Given the description of an element on the screen output the (x, y) to click on. 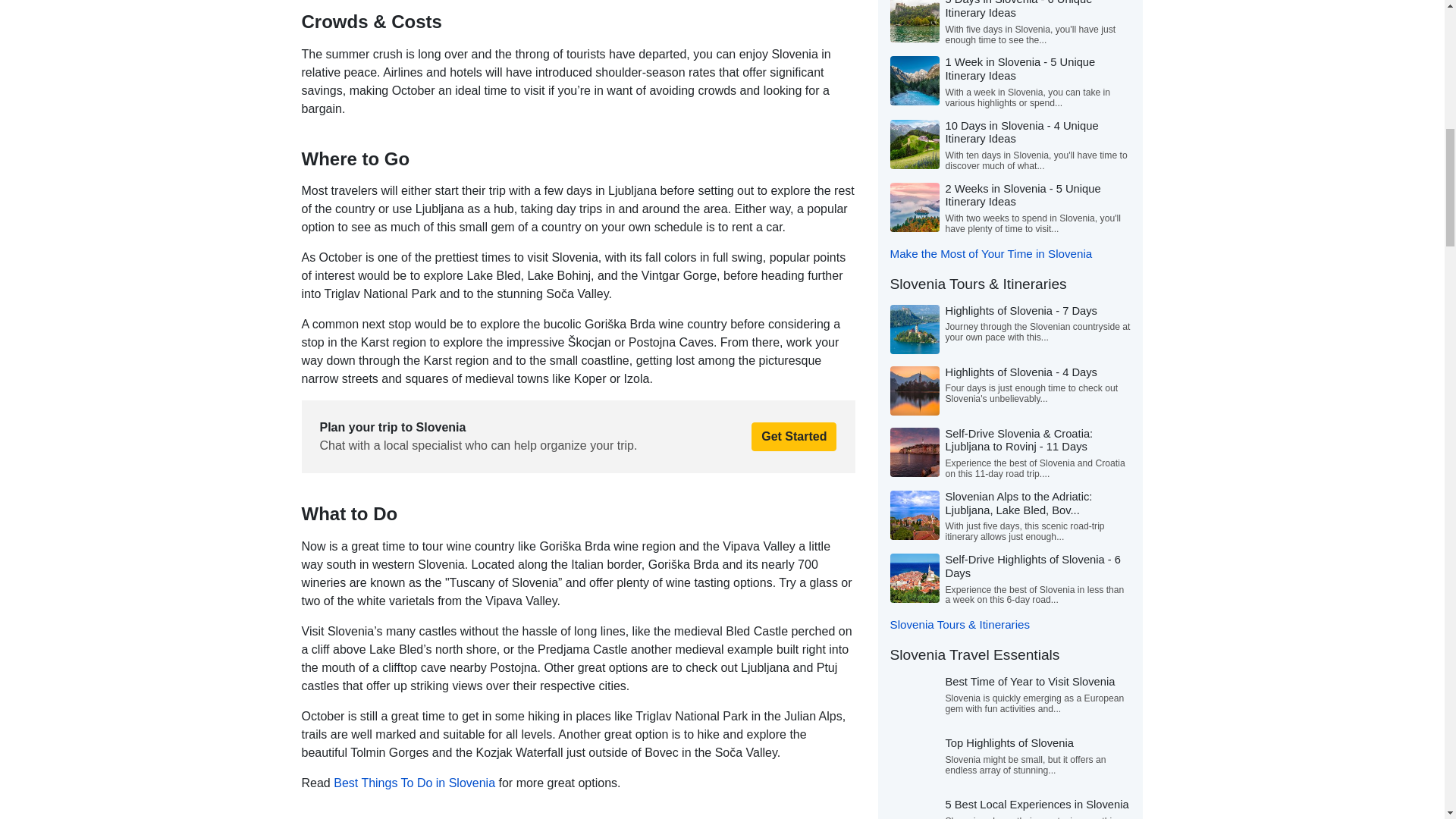
Self-Drive Highlights of Slovenia - 6 Days (1032, 566)
Highlights of Slovenia - 7 Days (1020, 310)
Top Highlights of Slovenia (1008, 743)
10 Days in Slovenia - 4 Unique Itinerary Ideas (1020, 132)
5 Best Local Experiences in Slovenia (1036, 804)
5 Days in Slovenia - 6 Unique Itinerary Ideas (1018, 9)
Highlights of Slovenia - 4 Days (1020, 372)
1 Week in Slovenia - 5 Unique Itinerary Ideas (1019, 68)
Best Time of Year to Visit Slovenia (1029, 681)
2 Weeks in Slovenia - 5 Unique Itinerary Ideas (1022, 195)
